Given the description of an element on the screen output the (x, y) to click on. 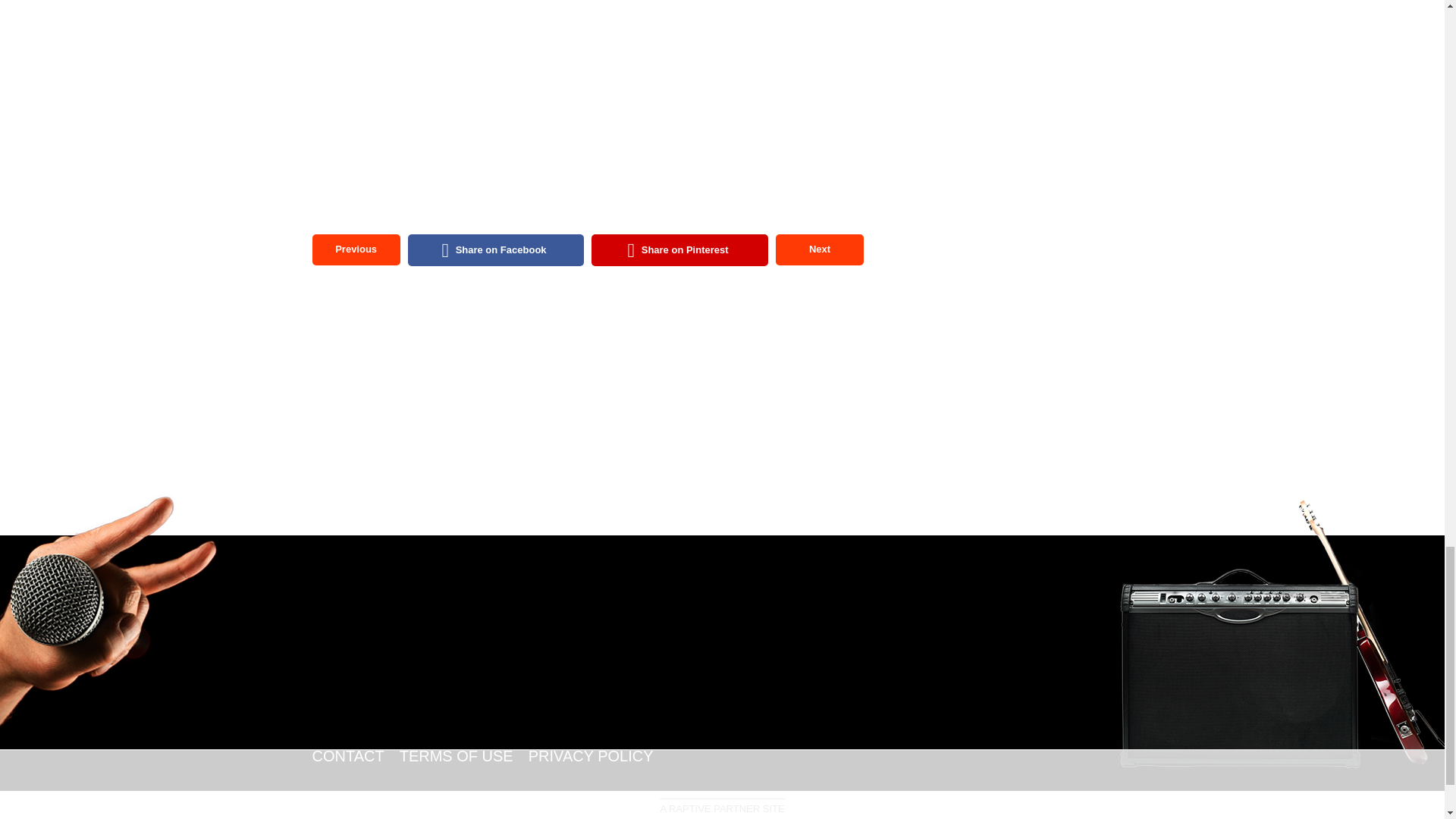
Share on Pinterest (679, 250)
